Given the description of an element on the screen output the (x, y) to click on. 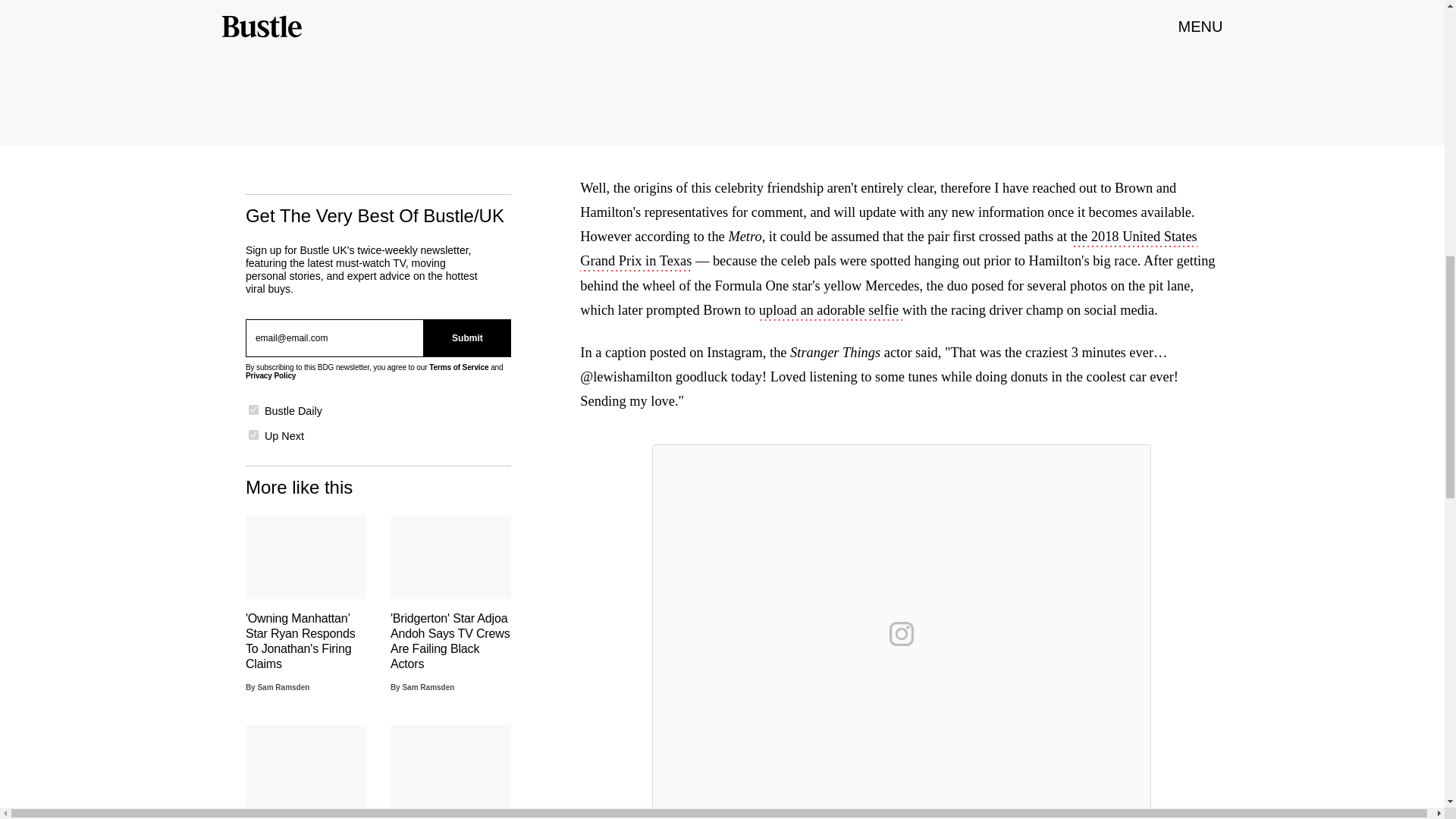
the 2018 United States Grand Prix in Texas (887, 250)
Terms of Service (458, 367)
upload an adorable selfie (830, 311)
Privacy Policy (270, 375)
View on Instagram (901, 633)
Submit (467, 338)
